Given the description of an element on the screen output the (x, y) to click on. 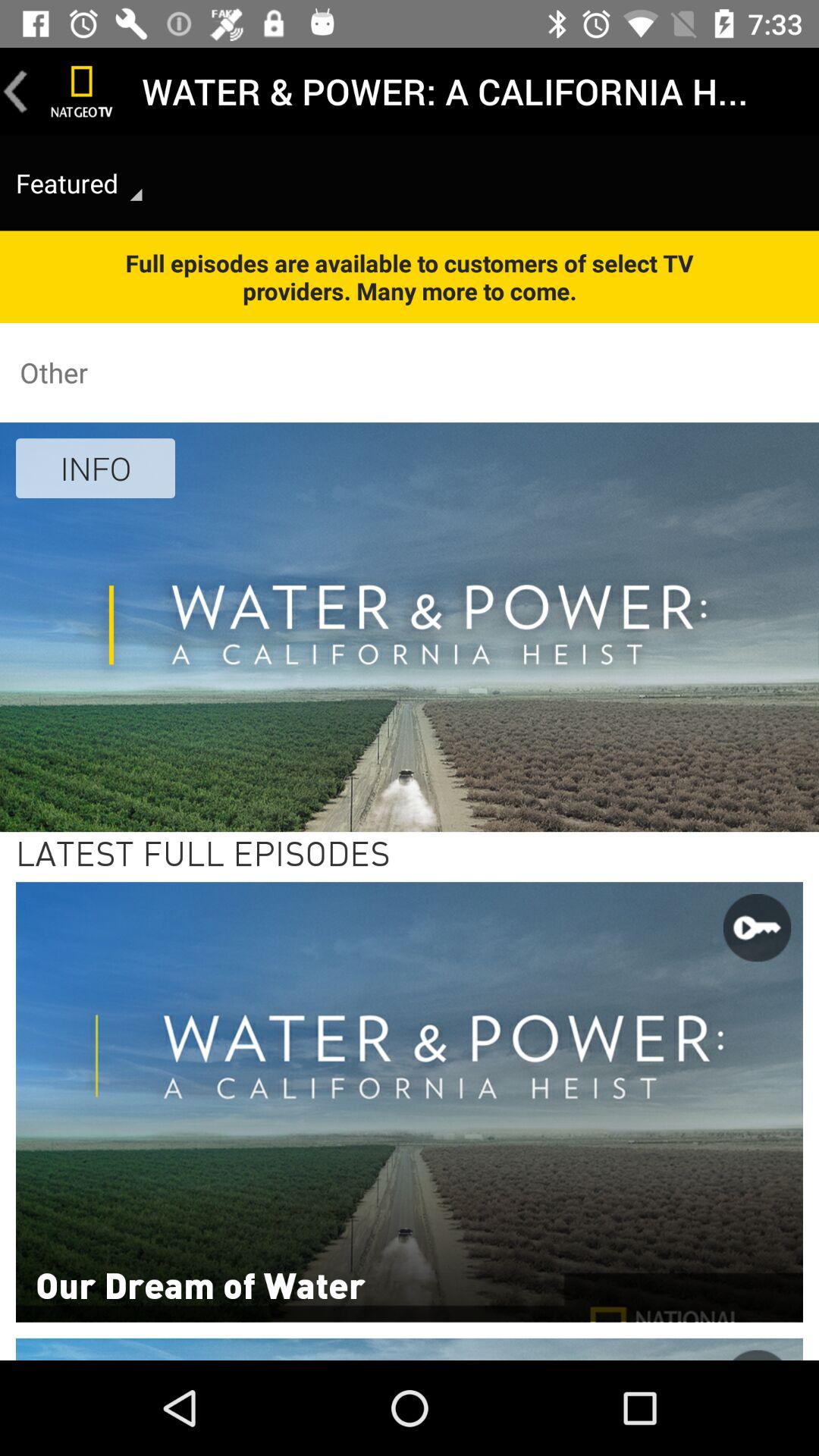
go back (15, 91)
